Given the description of an element on the screen output the (x, y) to click on. 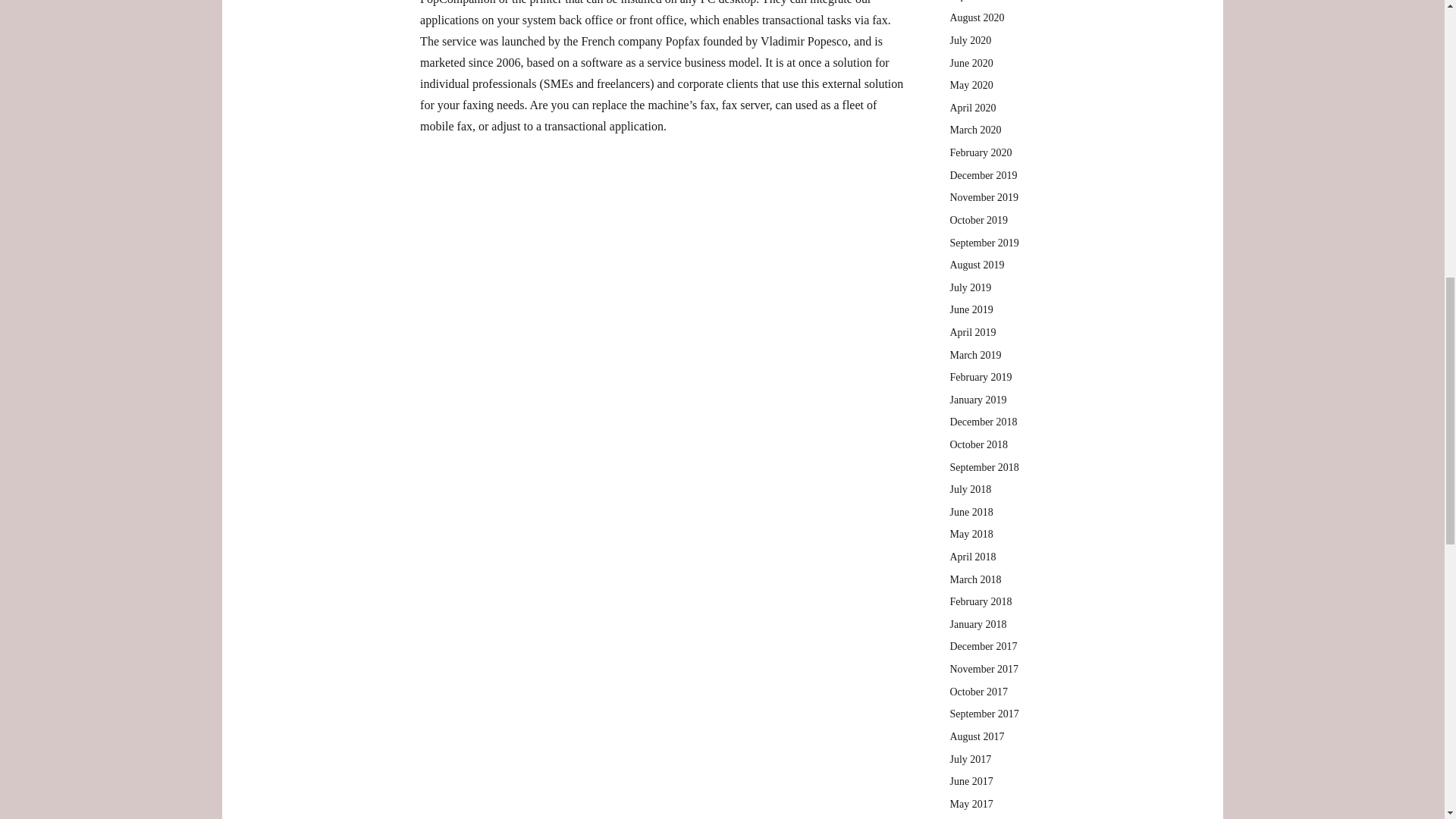
September 2020 (983, 0)
August 2020 (976, 17)
July 2020 (970, 40)
